Given the description of an element on the screen output the (x, y) to click on. 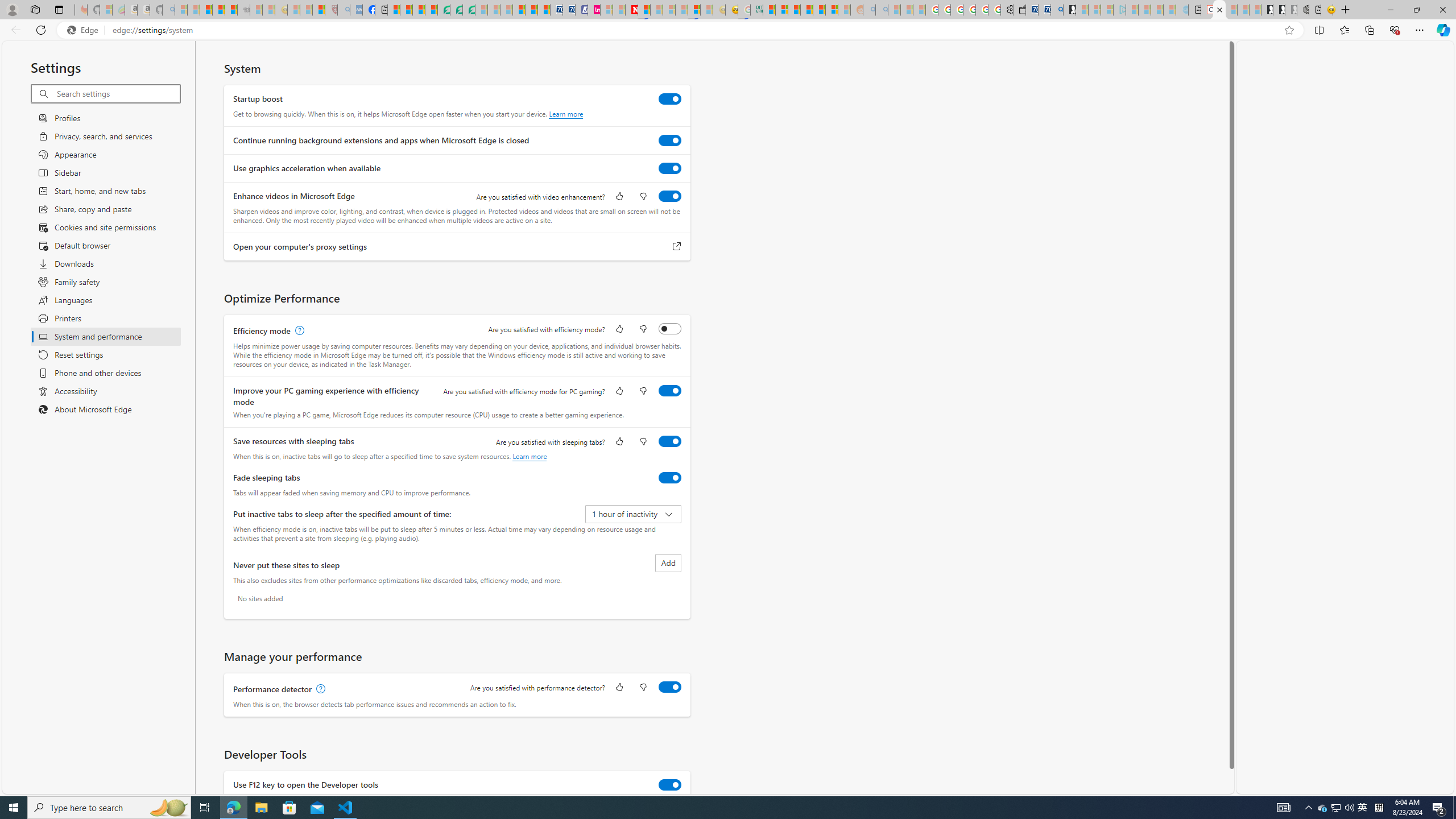
Edge (84, 29)
Kinda Frugal - MSN (818, 9)
Startup boost (669, 98)
